Given the description of an element on the screen output the (x, y) to click on. 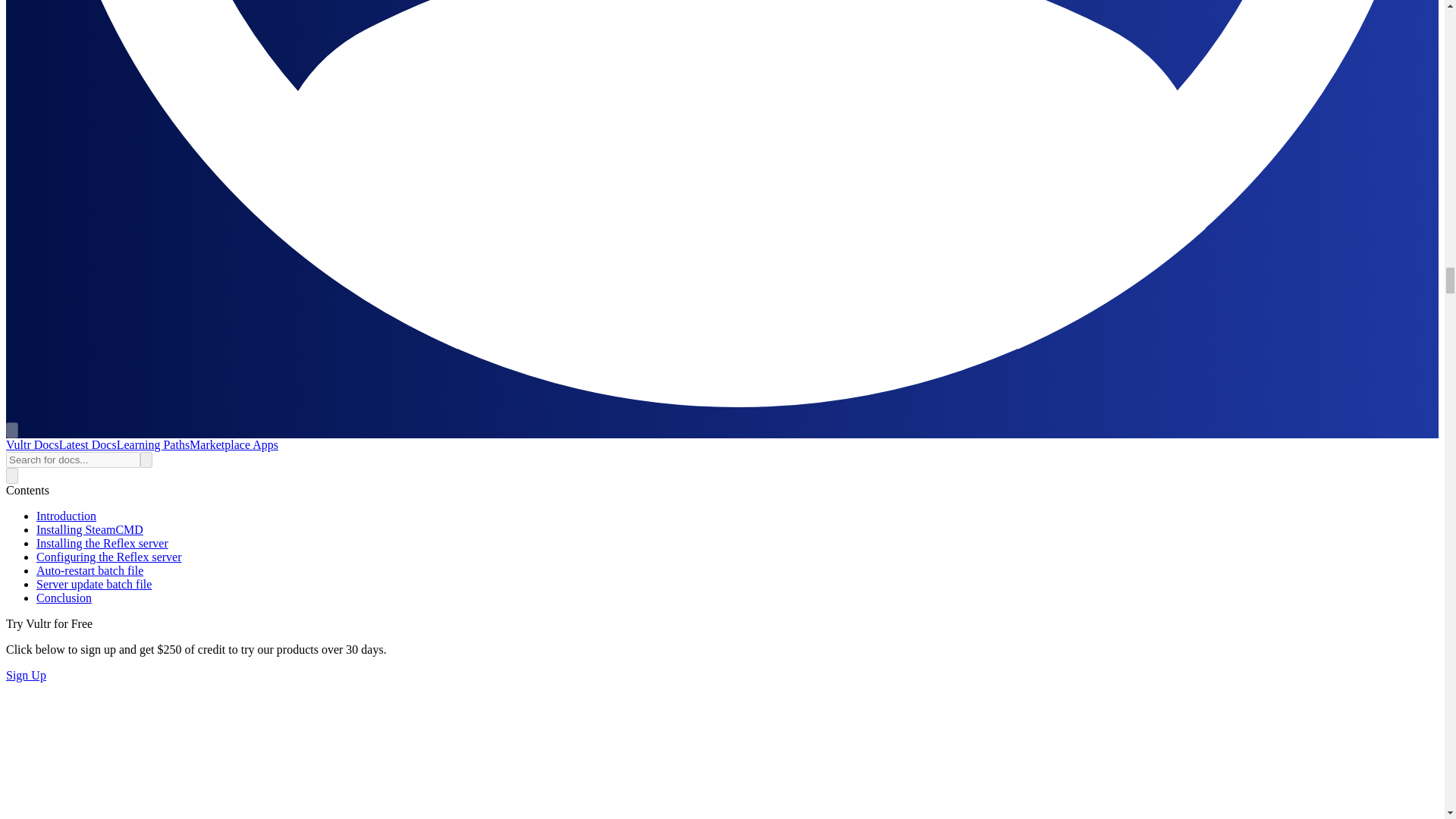
Learning Paths (152, 444)
Installing the Reflex server (102, 543)
Auto-restart batch file (89, 570)
Vultr Docs (32, 444)
Latest Docs (87, 444)
Introduction (66, 515)
Configuring the Reflex server (109, 556)
Server update batch file (93, 584)
Installing SteamCMD (89, 529)
Conclusion (63, 597)
